Given the description of an element on the screen output the (x, y) to click on. 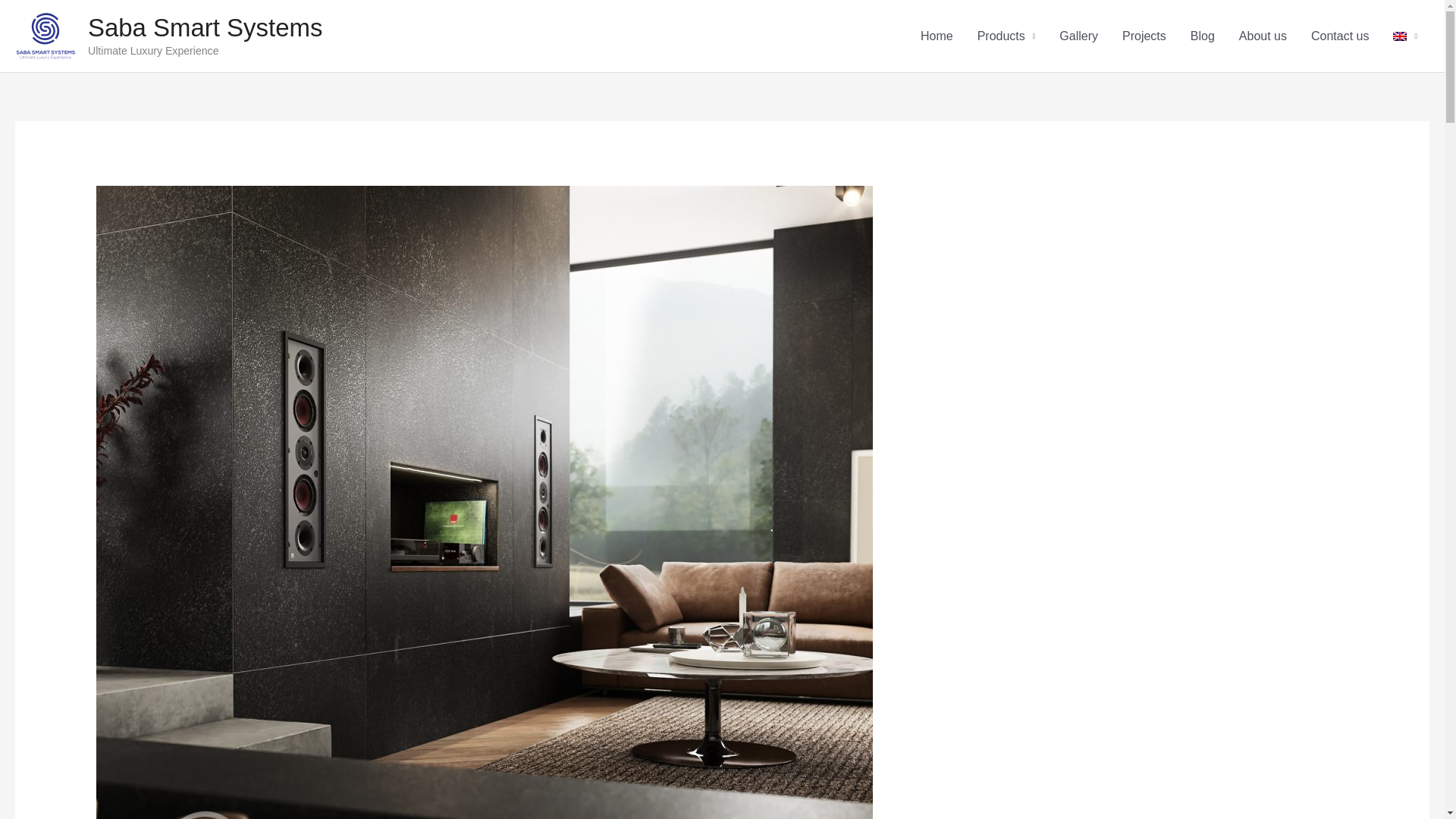
About us (1262, 36)
Projects (1143, 36)
Contact us (1339, 36)
Products (1006, 36)
Saba Smart Systems (204, 27)
